Given the description of an element on the screen output the (x, y) to click on. 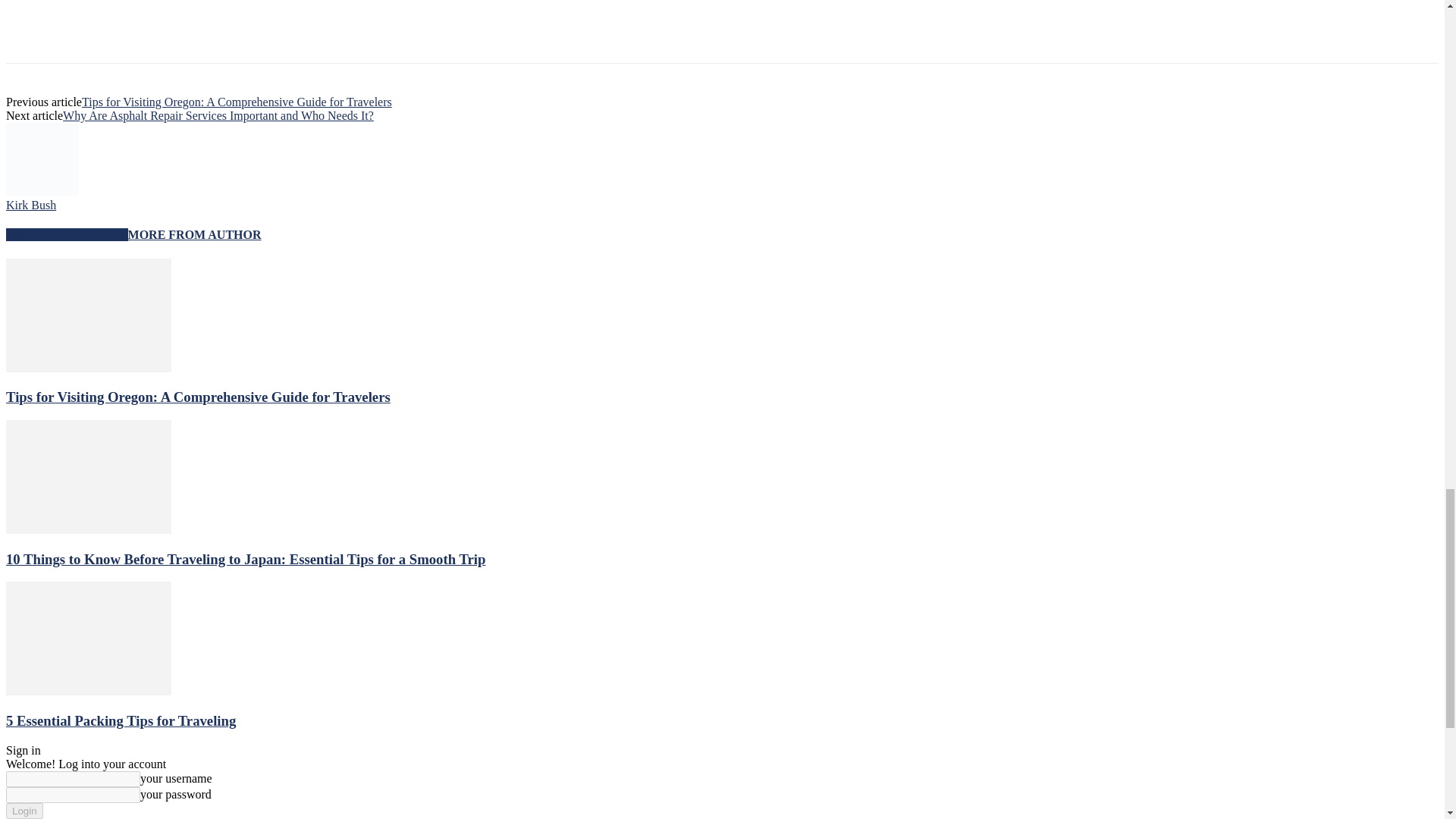
Login (24, 811)
